Given the description of an element on the screen output the (x, y) to click on. 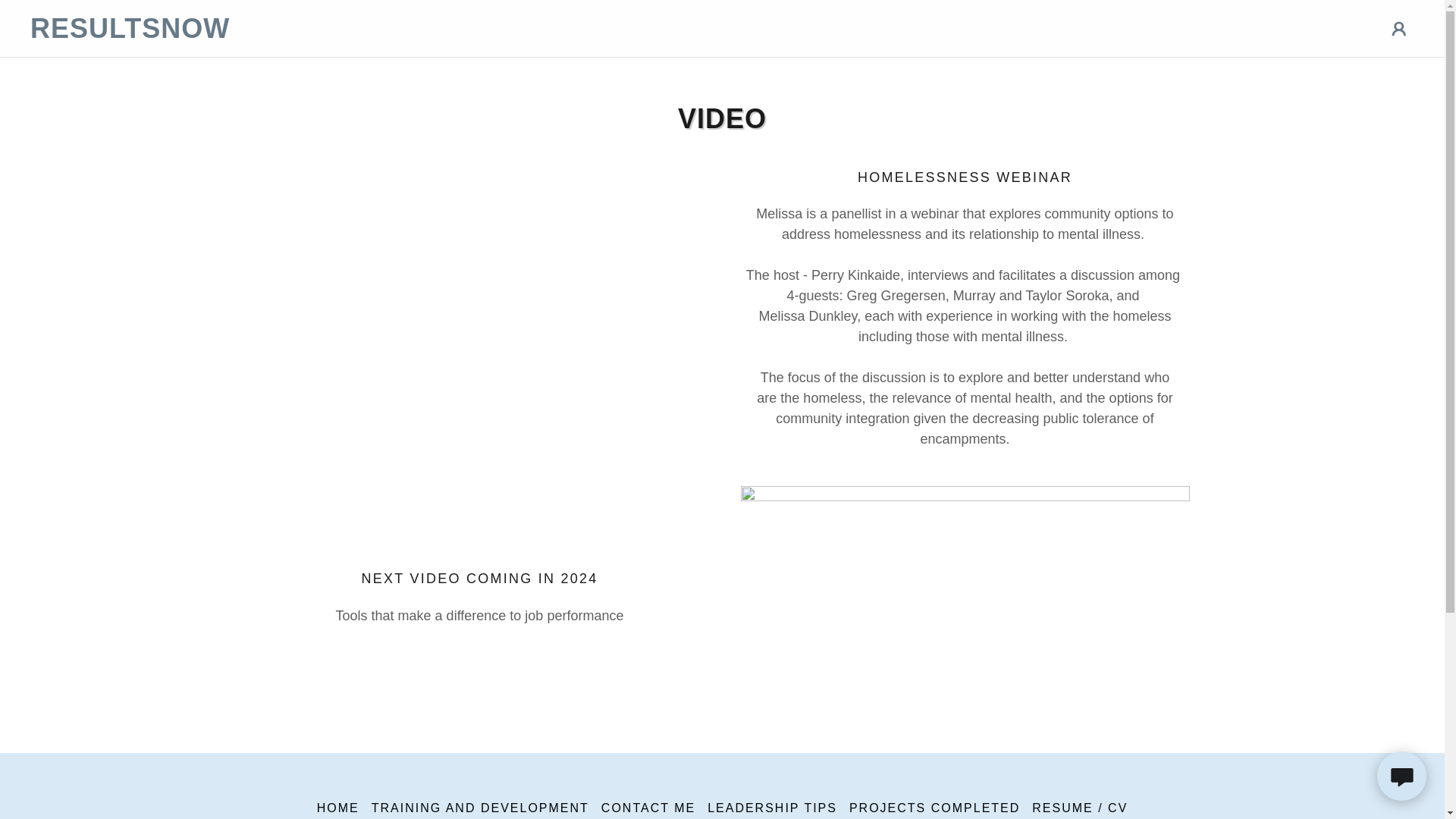
PROJECTS COMPLETED (934, 807)
ResultsNOW  (202, 32)
CONTACT ME (648, 807)
LEADERSHIP TIPS (772, 807)
TRAINING AND DEVELOPMENT (480, 807)
RESULTSNOW (202, 32)
HOME (338, 807)
